Given the description of an element on the screen output the (x, y) to click on. 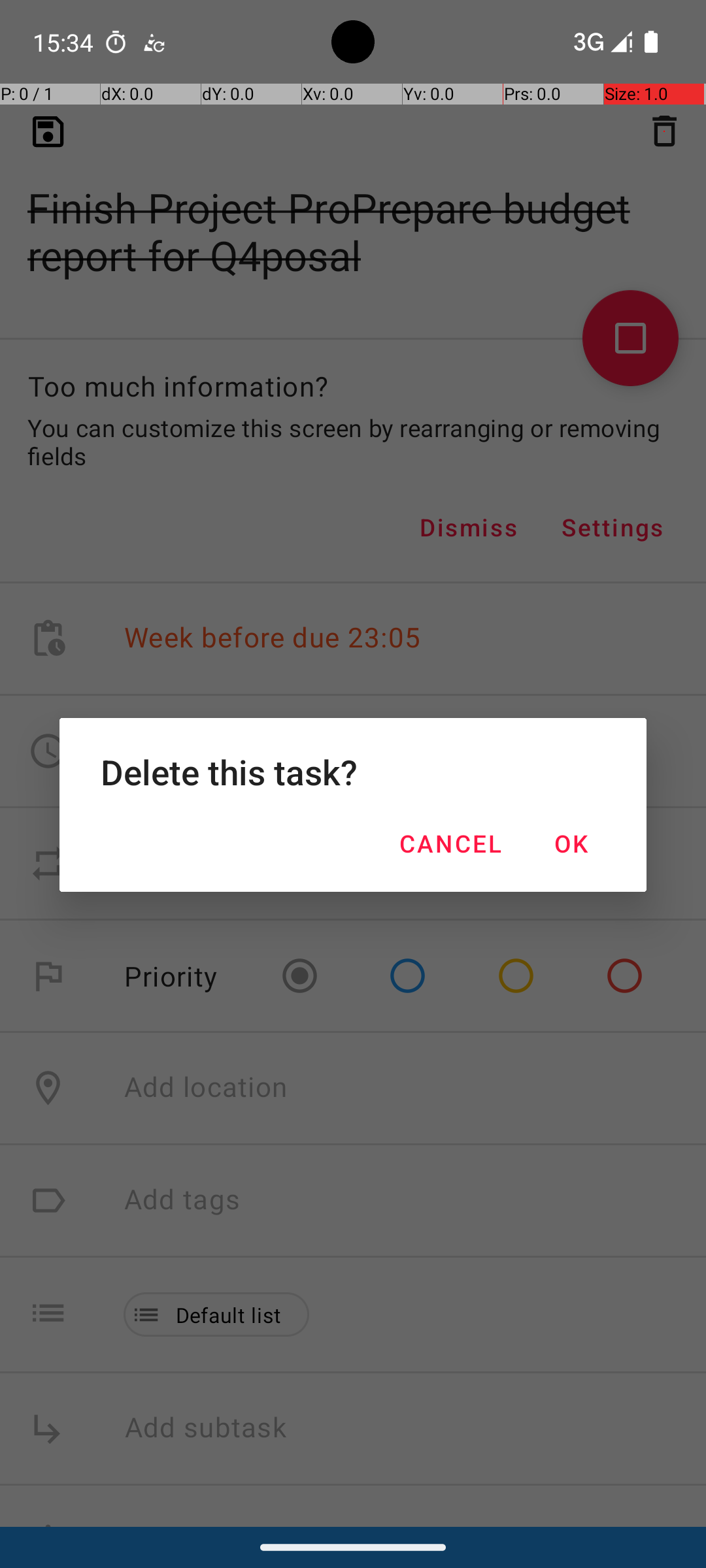
Delete this task? Element type: android.widget.TextView (352, 771)
